Given the description of an element on the screen output the (x, y) to click on. 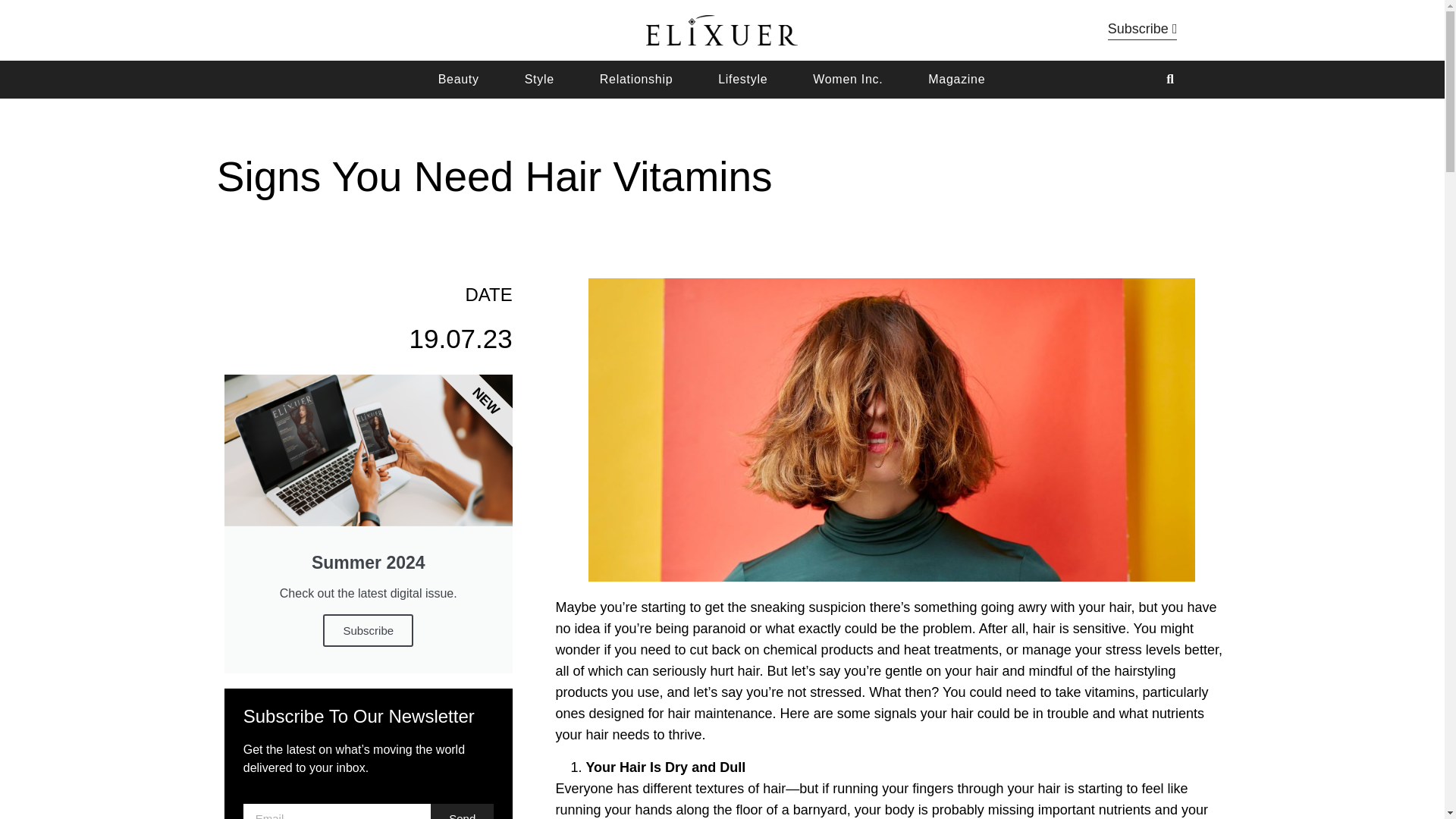
Subscribe (1142, 29)
Style (539, 79)
Send (461, 811)
Lifestyle (742, 79)
Women Inc. (847, 79)
Relationship (635, 79)
Subscribe (368, 630)
Magazine (956, 79)
Beauty (458, 79)
